Given the description of an element on the screen output the (x, y) to click on. 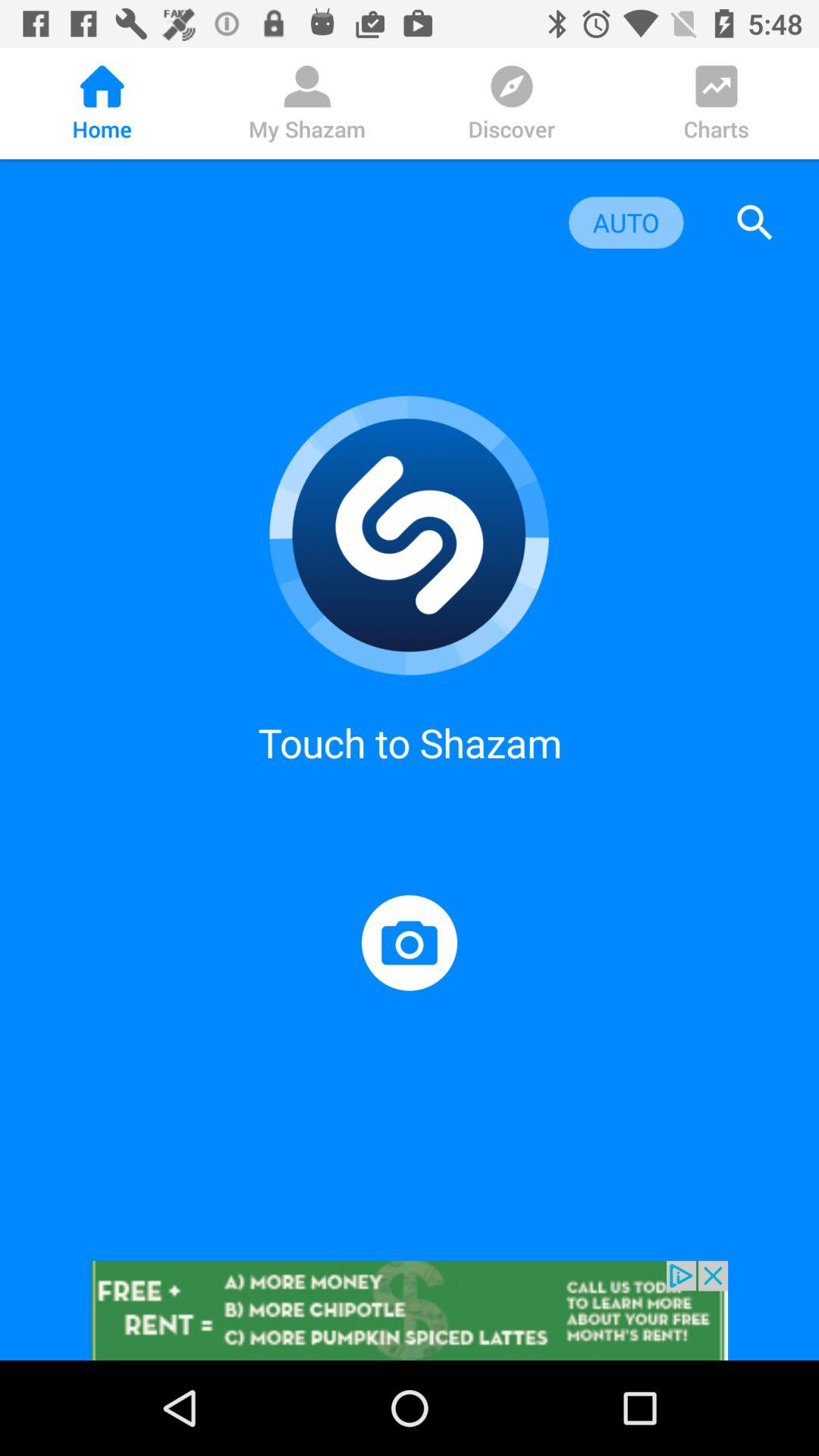
search toggle (755, 222)
